Given the description of an element on the screen output the (x, y) to click on. 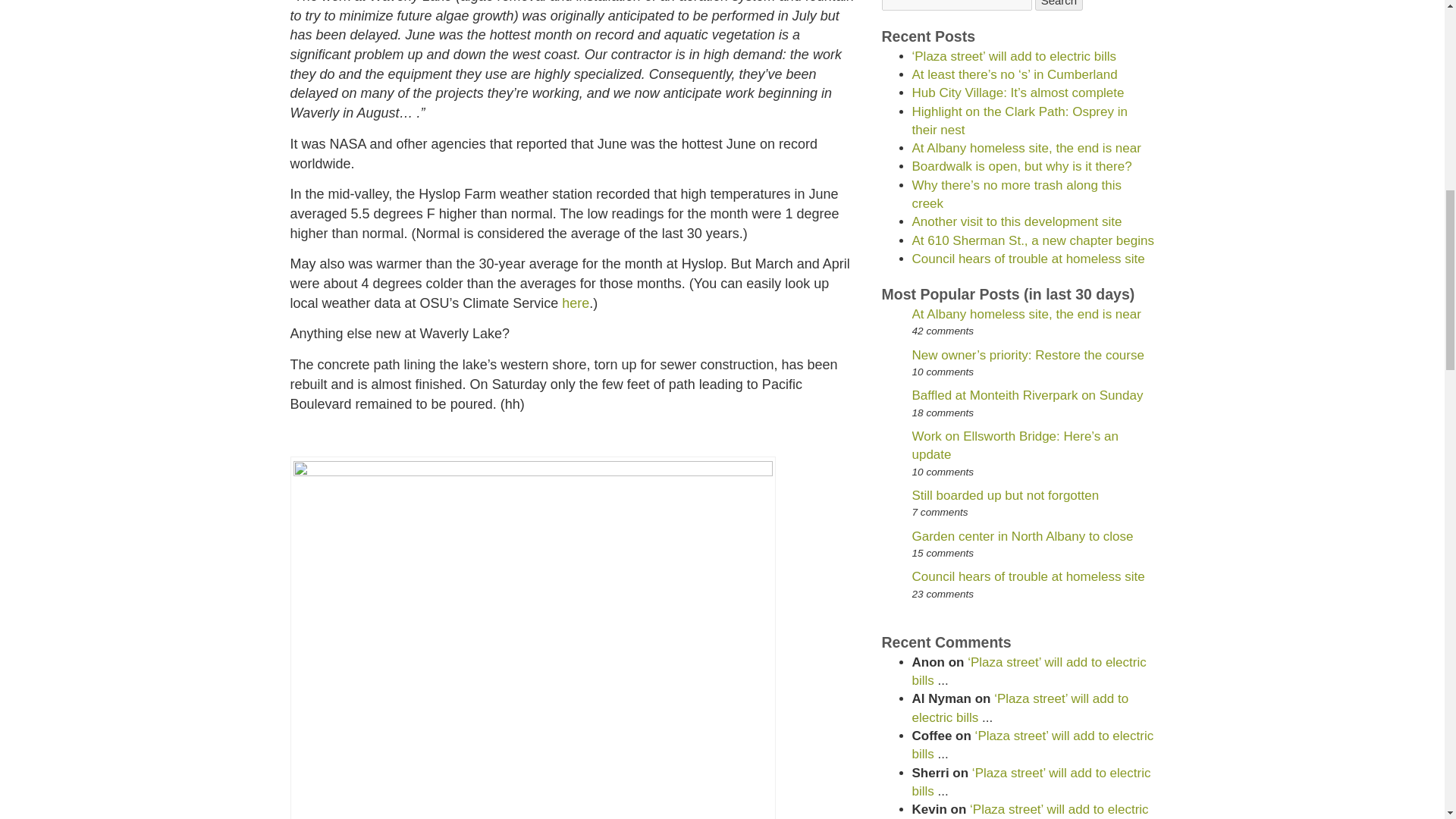
Search (1059, 4)
here (575, 303)
Search (1059, 4)
